Given the description of an element on the screen output the (x, y) to click on. 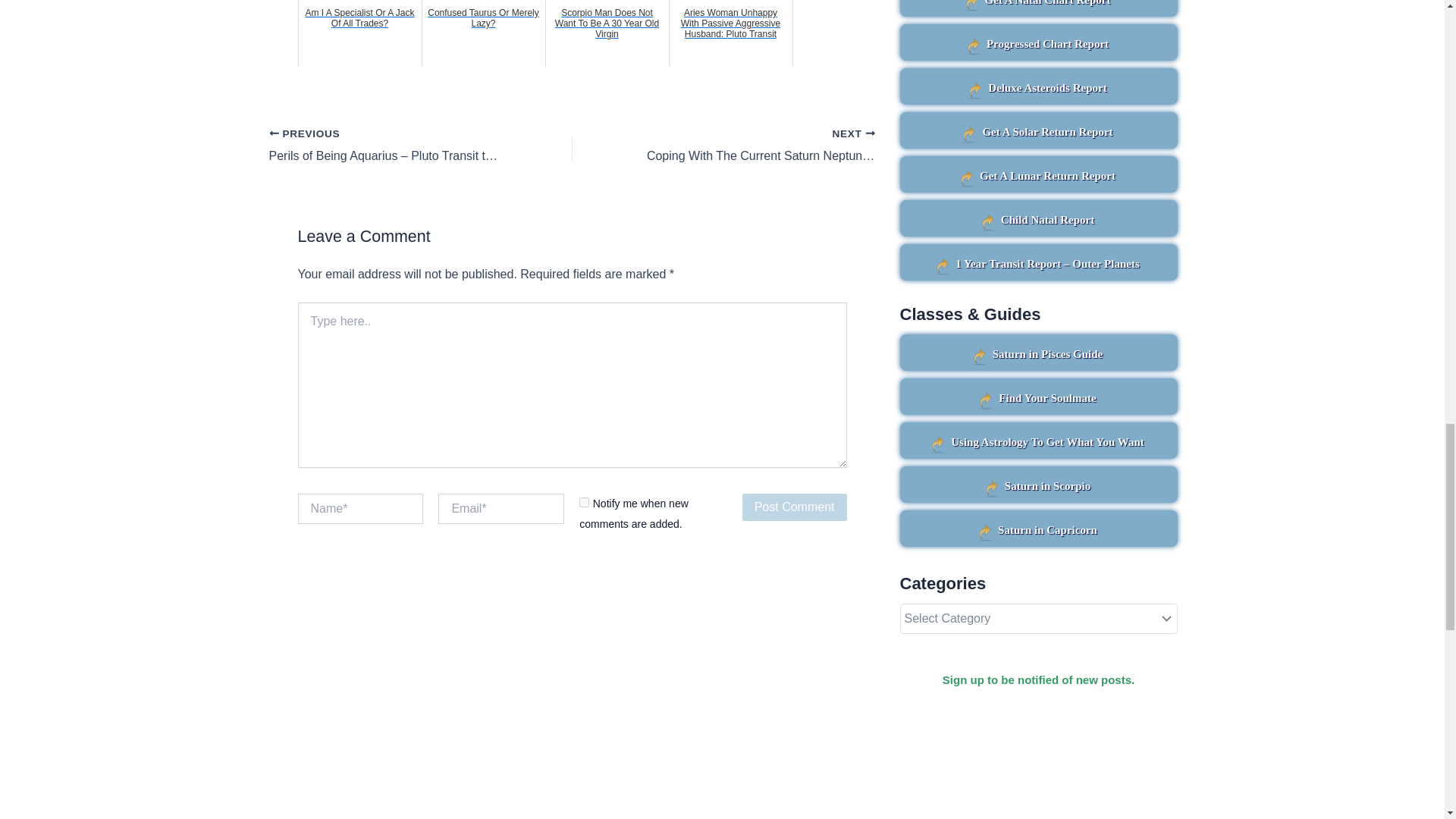
Perils of Being Aquarius - Pluto Transit to my Natal Moon (389, 146)
1 (584, 501)
Post Comment (794, 506)
